Given the description of an element on the screen output the (x, y) to click on. 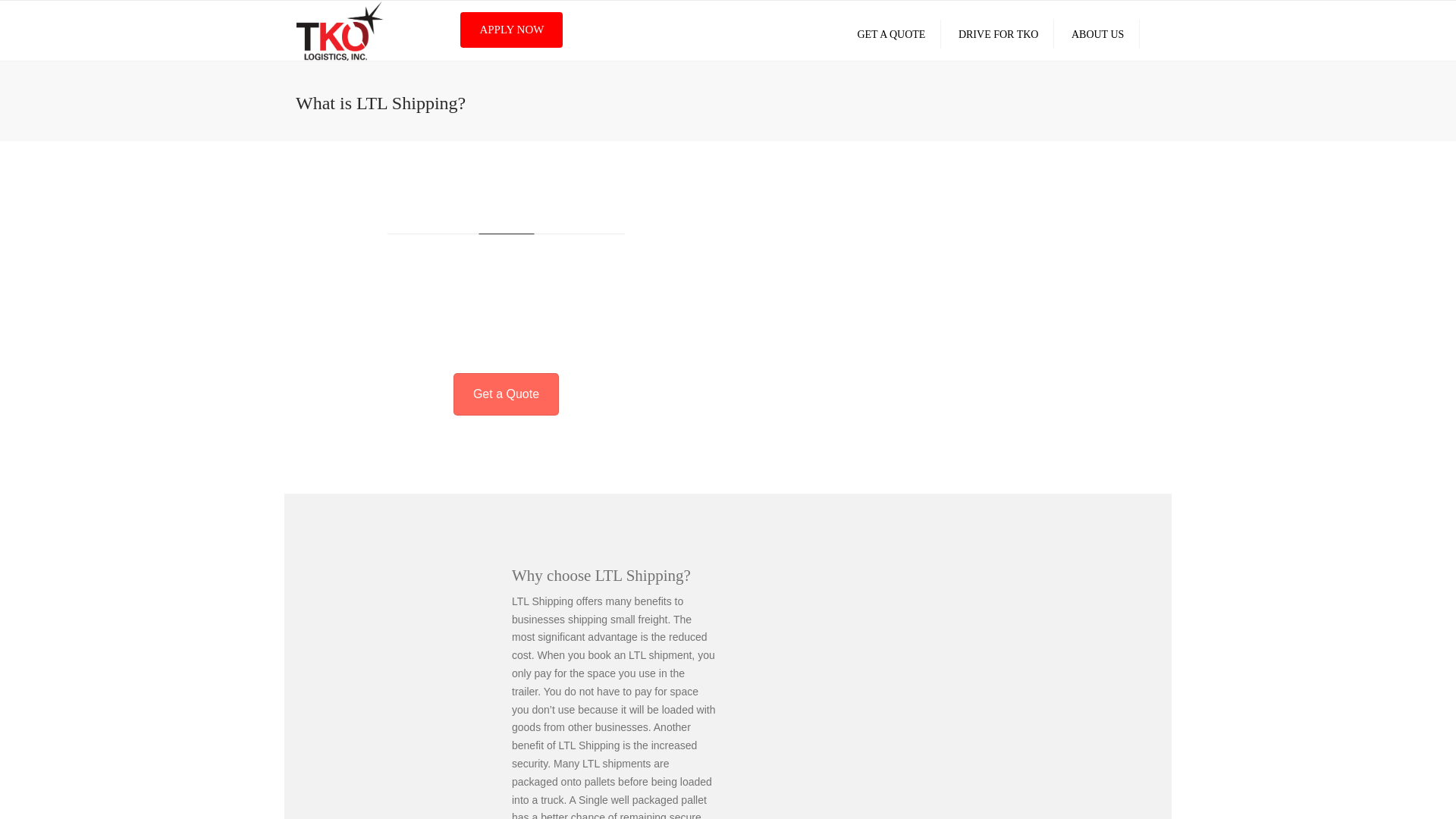
Get a Quote (505, 394)
Search (1157, 34)
DRIVE FOR TKO (998, 34)
APPLY NOW (511, 29)
GET A QUOTE (890, 34)
ABOUT US (1097, 34)
